Given the description of an element on the screen output the (x, y) to click on. 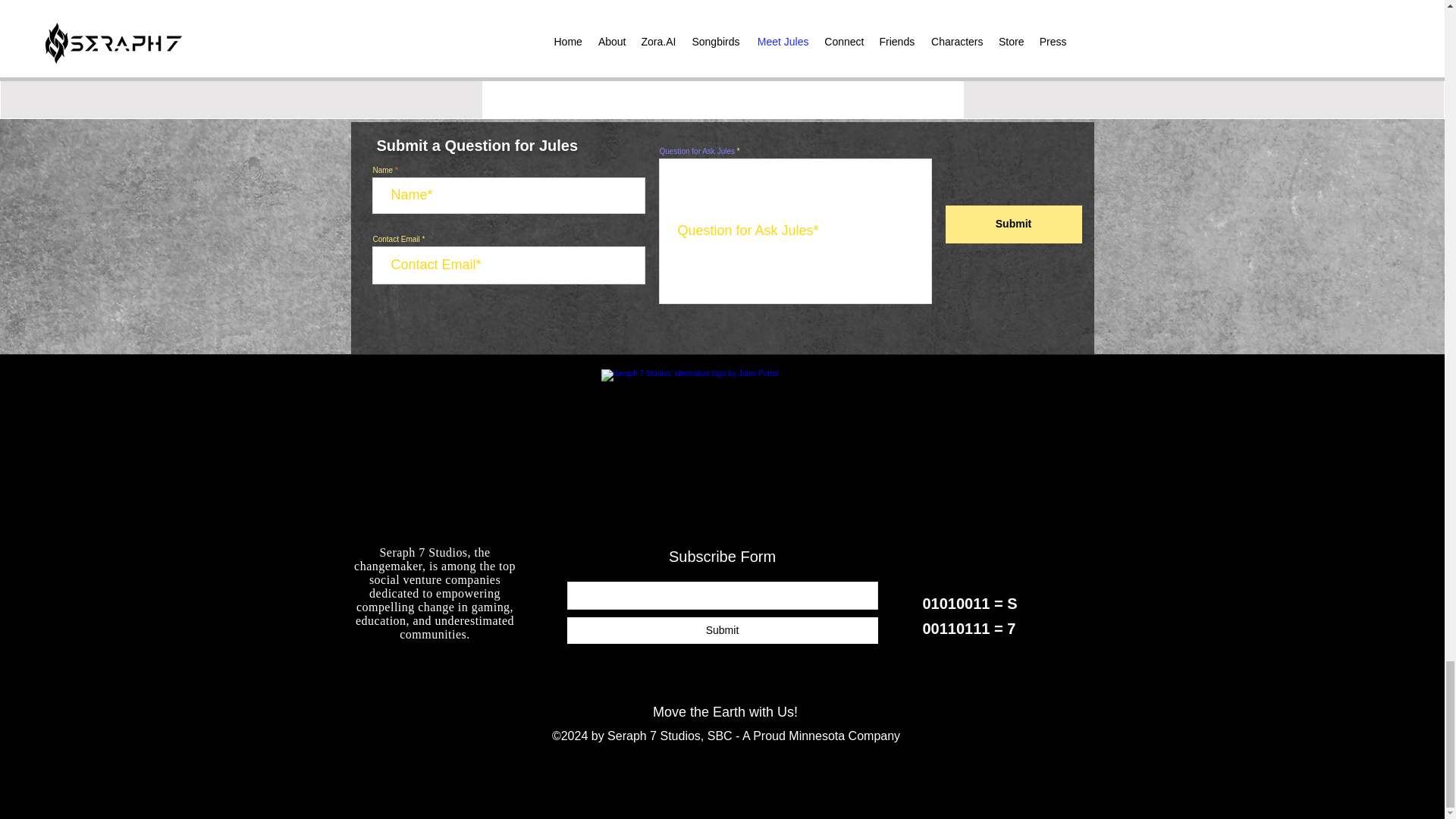
Seraph 7 Studios' alternative logo by Jules Porter (724, 454)
Submit (1012, 224)
Submit (722, 630)
